Given the description of an element on the screen output the (x, y) to click on. 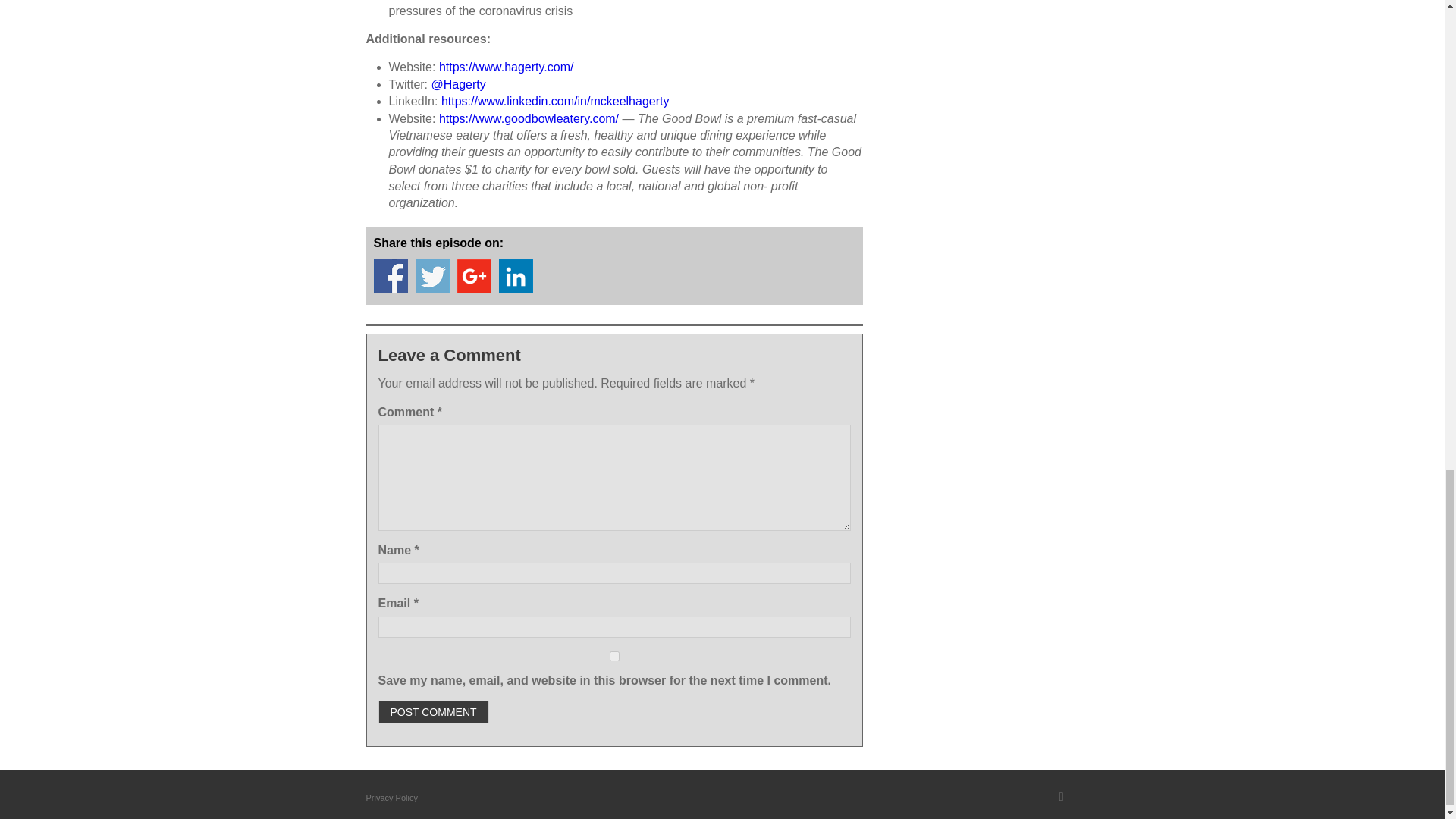
yes (613, 655)
Share on Linkedin (515, 276)
Post Comment (432, 712)
Share on Twitter (431, 276)
Share on Facebook (389, 276)
Post Comment (432, 712)
